Given the description of an element on the screen output the (x, y) to click on. 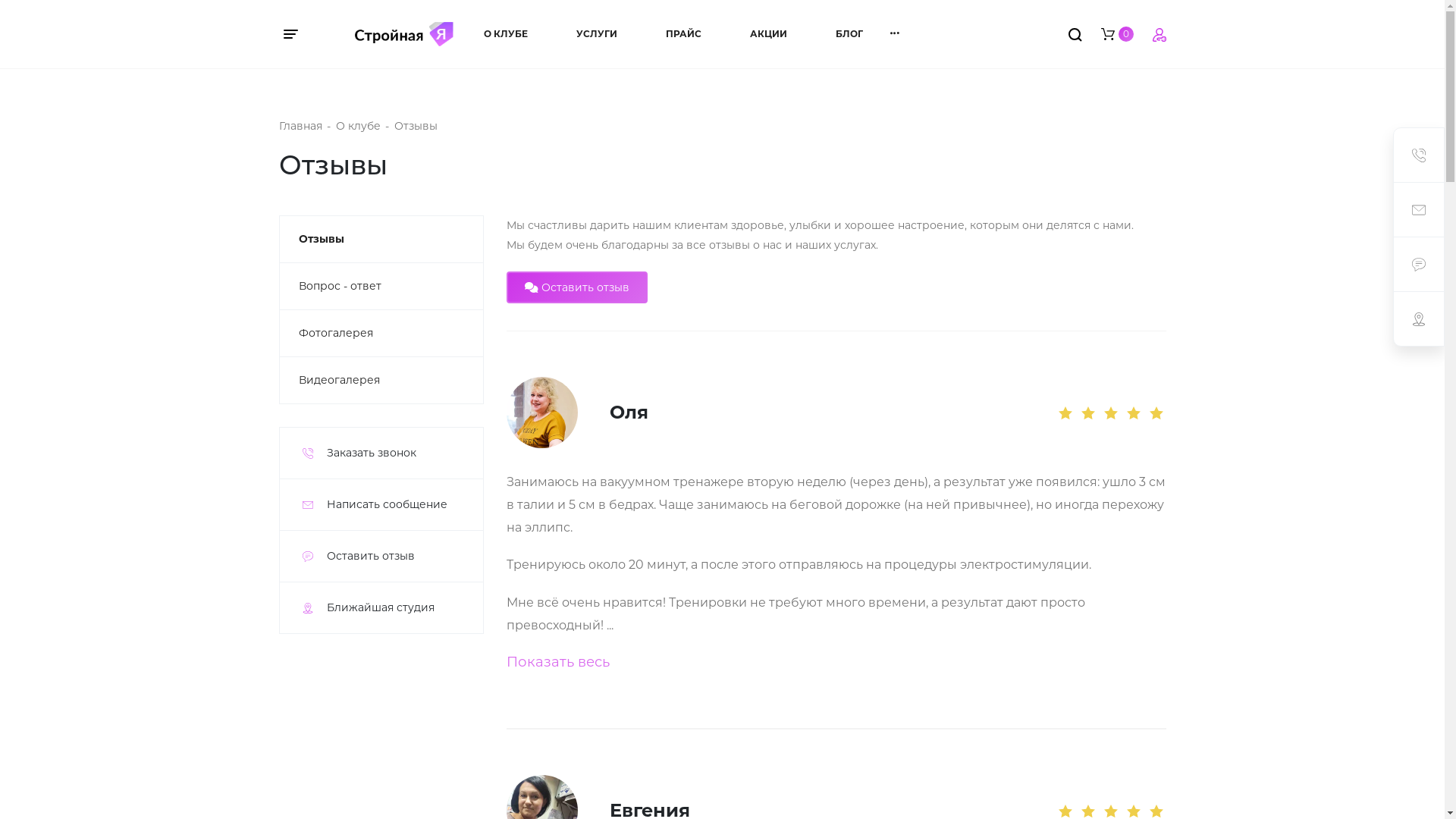
0 Element type: text (1117, 32)
Toggle navigation Element type: text (298, 33)
